Given the description of an element on the screen output the (x, y) to click on. 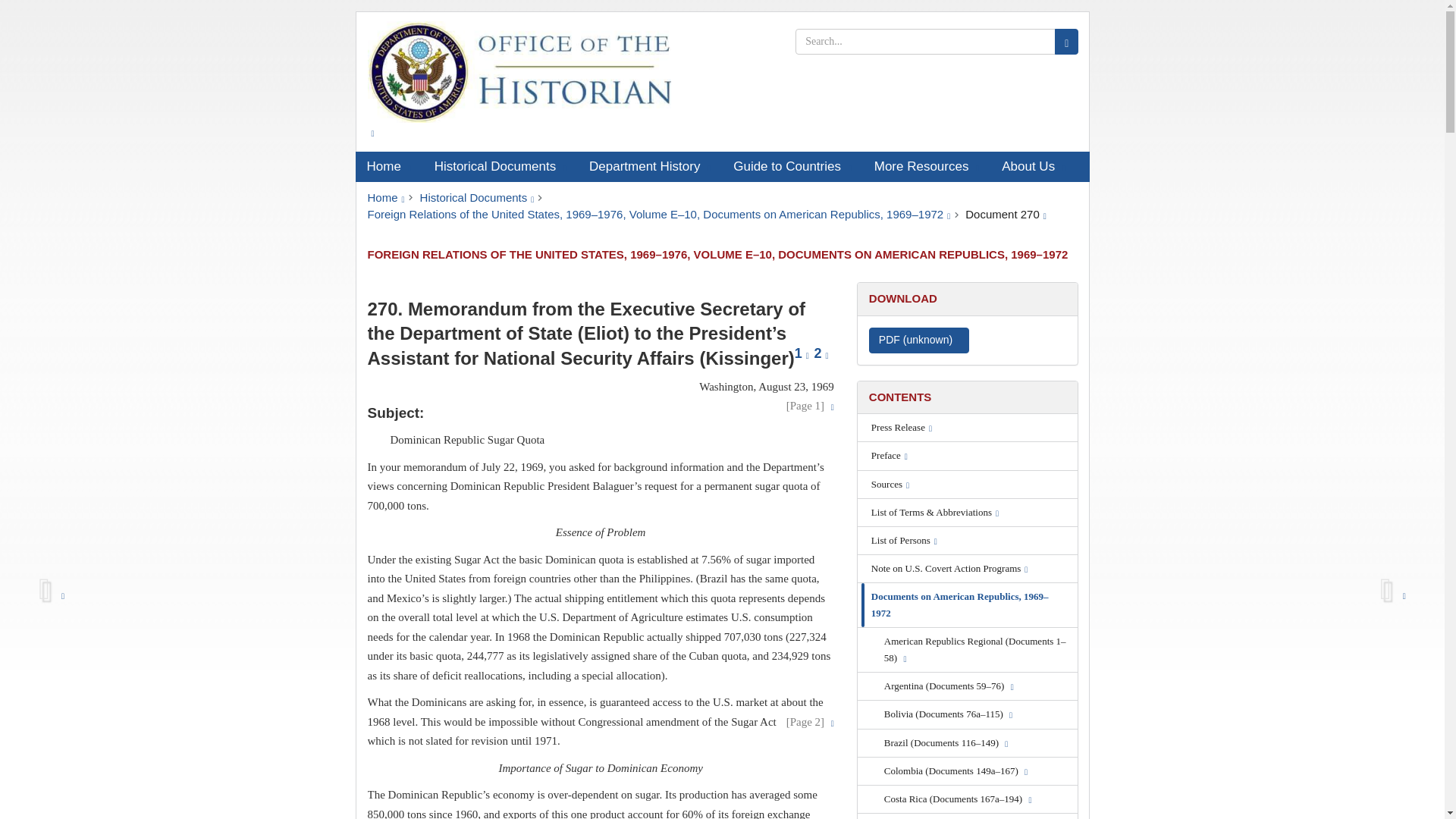
Historical Documents (477, 196)
Historical Documents (500, 166)
More Resources (926, 166)
Document 270 (1005, 214)
Department History (650, 166)
Guide to Countries (792, 166)
Home (388, 166)
About Us (1033, 166)
Home (385, 196)
